Given the description of an element on the screen output the (x, y) to click on. 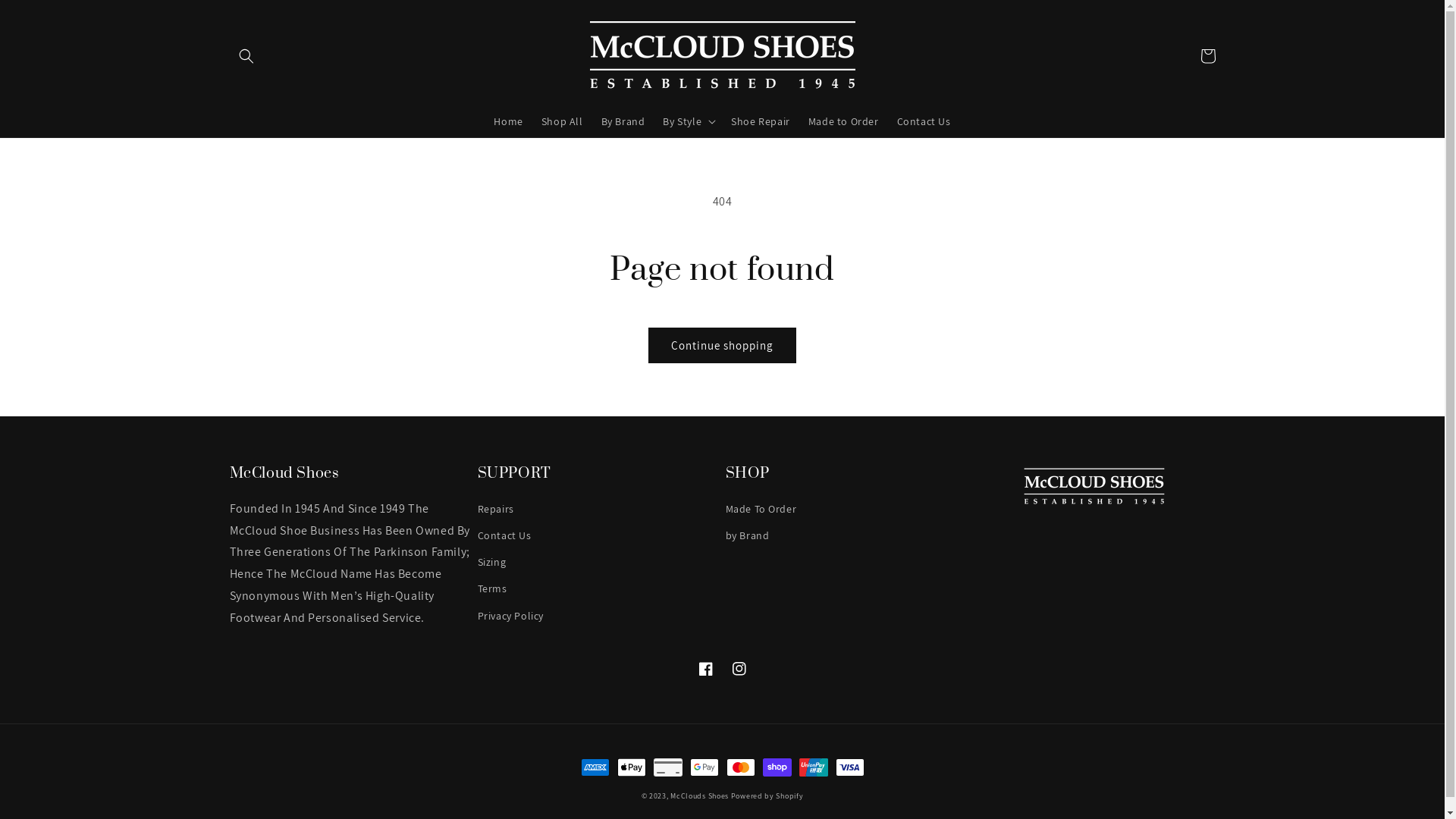
Made To Order Element type: text (760, 510)
Made to Order Element type: text (843, 120)
Contact Us Element type: text (504, 535)
Terms Element type: text (492, 588)
Continue shopping Element type: text (722, 345)
Instagram Element type: text (738, 668)
Sizing Element type: text (491, 562)
Repairs Element type: text (495, 510)
By Brand Element type: text (623, 120)
Facebook Element type: text (704, 668)
Shop All Element type: text (562, 120)
Privacy Policy Element type: text (510, 615)
Powered by Shopify Element type: text (767, 795)
by Brand Element type: text (746, 535)
McClouds Shoes Element type: text (699, 795)
Cart Element type: text (1206, 55)
Home Element type: text (507, 120)
Shoe Repair Element type: text (760, 120)
Contact Us Element type: text (924, 120)
